Given the description of an element on the screen output the (x, y) to click on. 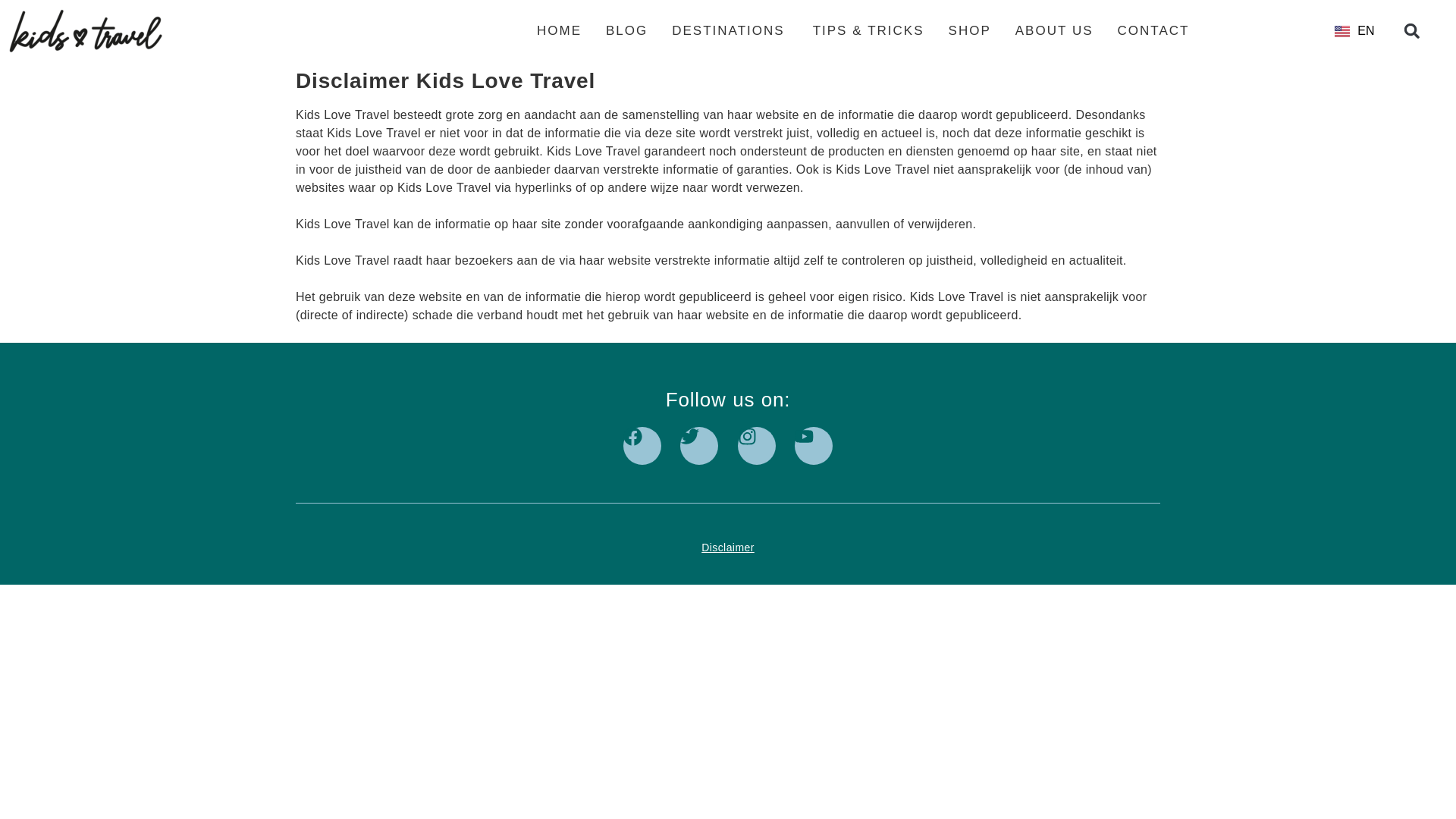
CONTACT (1153, 30)
ABOUT US (1053, 30)
HOME (558, 30)
BLOG (626, 30)
